Given the description of an element on the screen output the (x, y) to click on. 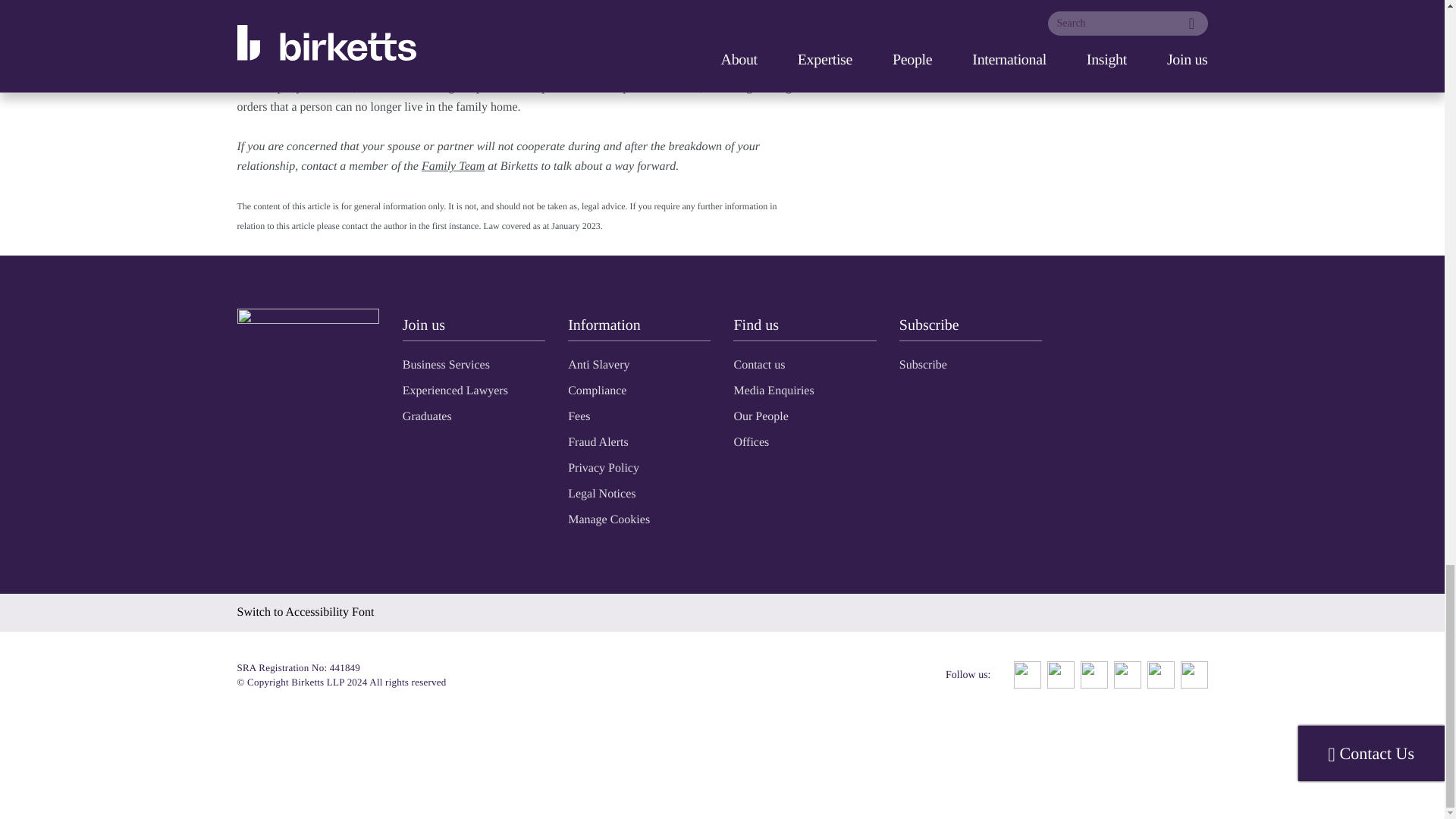
Experienced Lawyers (455, 390)
Switch to Dyslexic friendly appearance (304, 611)
Subscribe (923, 364)
Fraud Alerts (597, 440)
Business Services (446, 364)
Our People (760, 415)
Media Enquiries (773, 390)
Fees (578, 415)
Manage Cookies (608, 518)
Graduates (427, 415)
Contact us (758, 364)
Anti Slavery  (597, 364)
Privacy Policy (603, 467)
Legal Notices (600, 492)
Offices (750, 440)
